Given the description of an element on the screen output the (x, y) to click on. 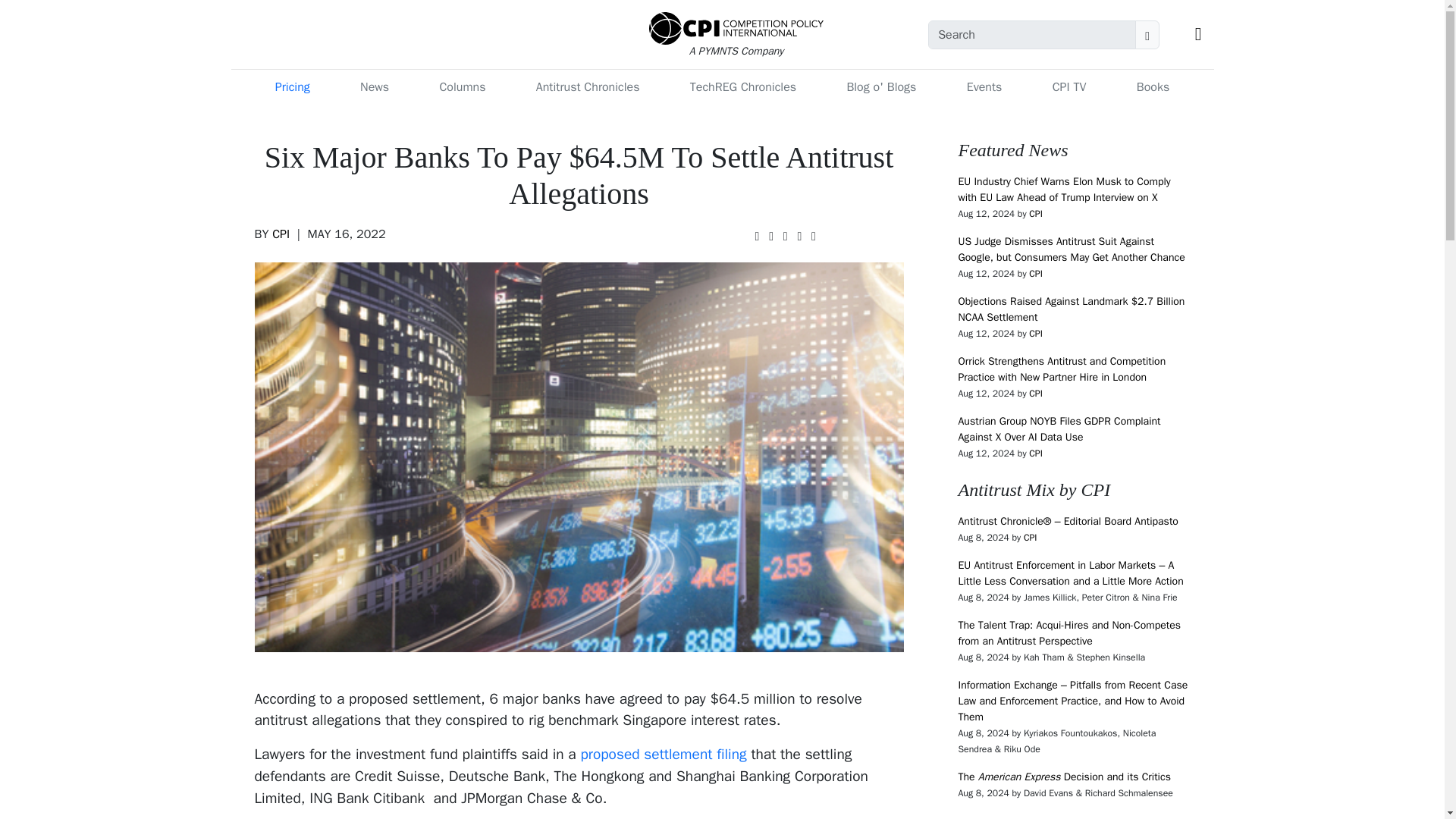
Books (1152, 87)
Events (984, 87)
Pricing (292, 87)
Antitrust Chronicles (587, 87)
CPI TV (1069, 87)
Blog o' Blogs (880, 87)
Columns (462, 87)
News (373, 87)
TechREG Chronicles (743, 87)
